Given the description of an element on the screen output the (x, y) to click on. 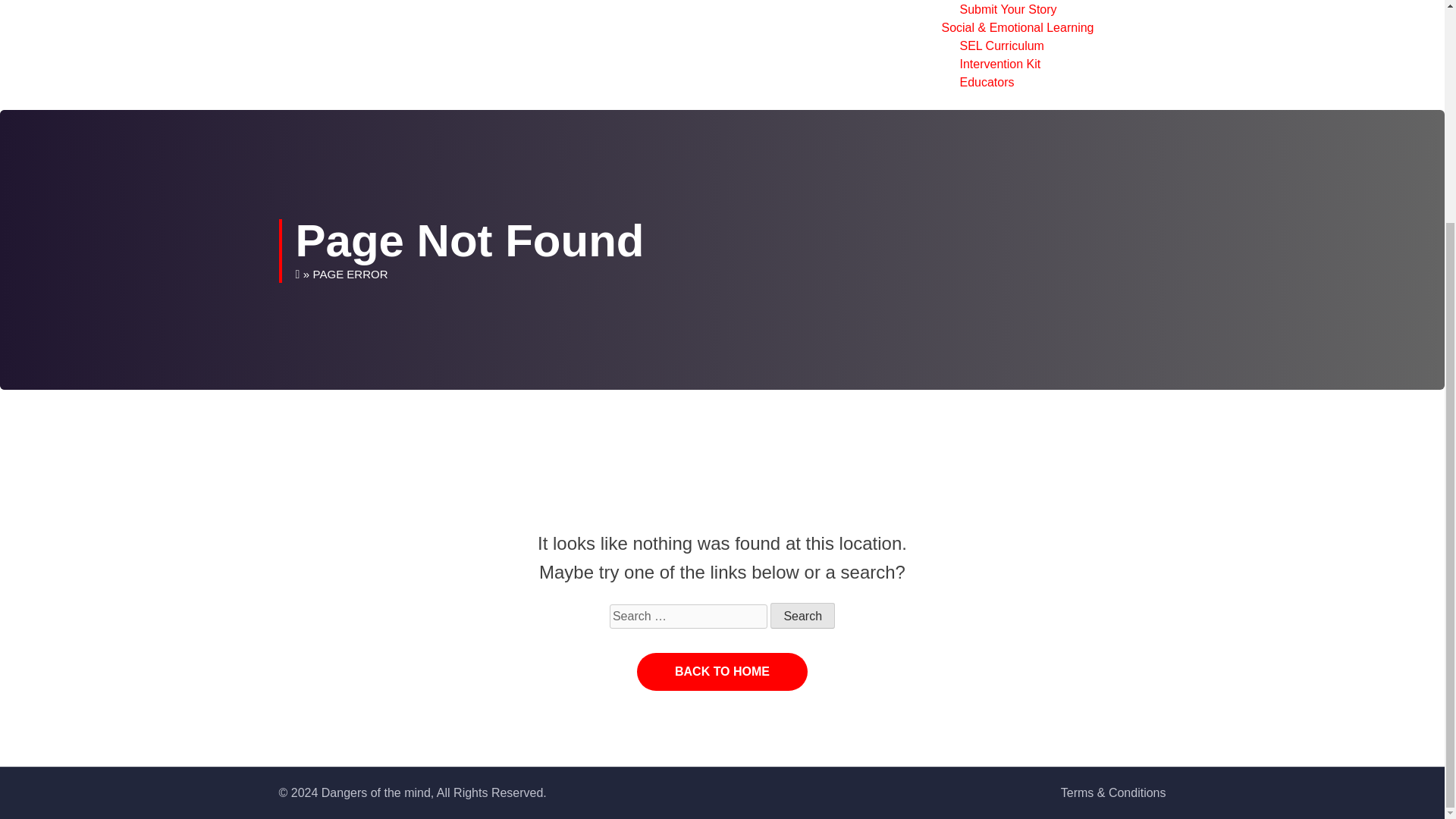
Search (802, 615)
Intervention Kit (1000, 63)
Educators (986, 82)
Submit Your Story (1008, 9)
Search (802, 615)
Page not located (350, 274)
SEL Curriculum (1001, 45)
